Given the description of an element on the screen output the (x, y) to click on. 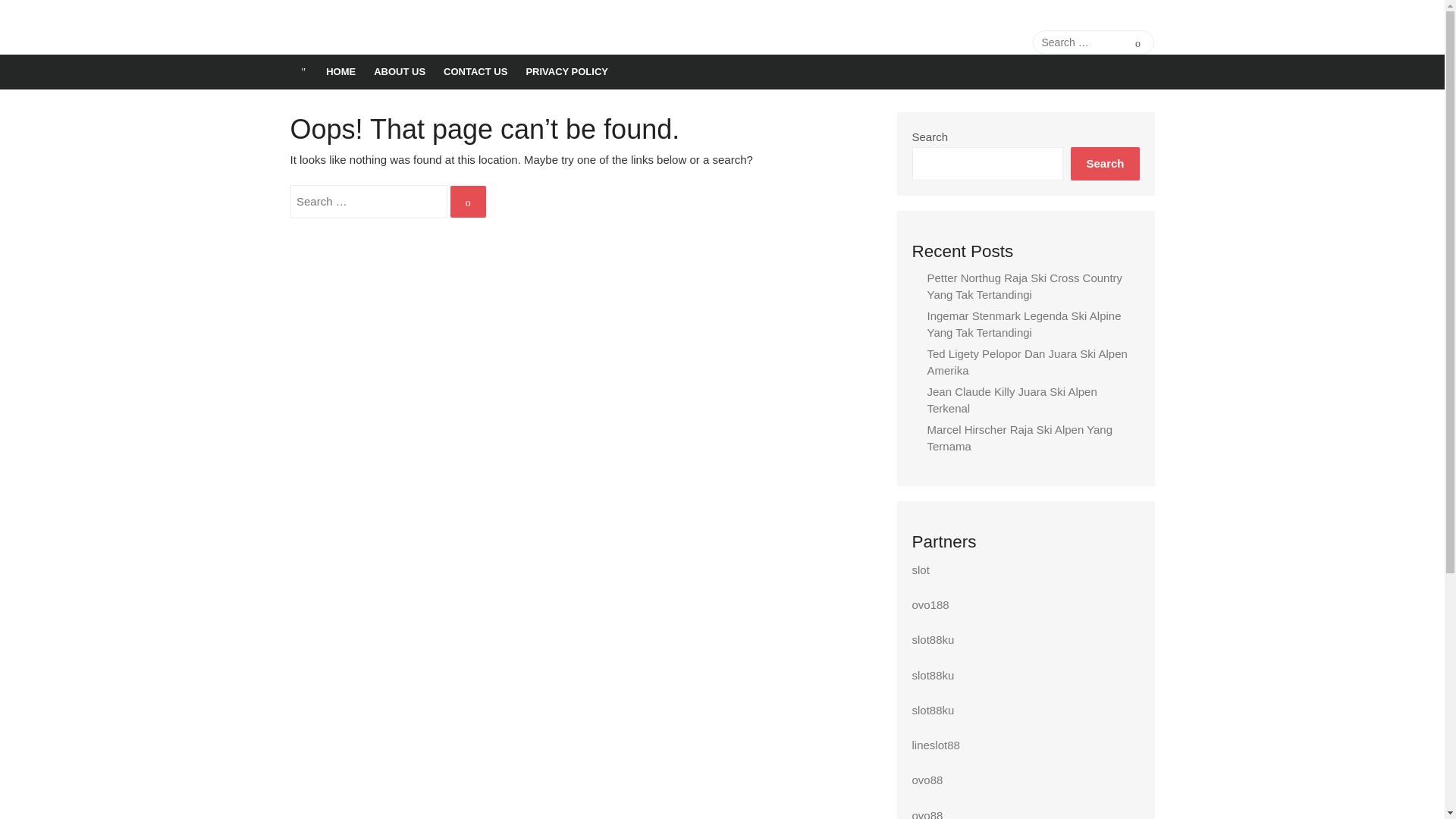
lineslot88 (935, 744)
Ted Ligety Pelopor Dan Juara Ski Alpen Amerika (1026, 362)
Search (1104, 163)
Search (467, 201)
HOME (341, 71)
Search (1137, 42)
slot (919, 569)
ovo88 (926, 779)
Jean Claude Killy Juara Ski Alpen Terkenal (1011, 399)
ovo188 (930, 604)
